Given the description of an element on the screen output the (x, y) to click on. 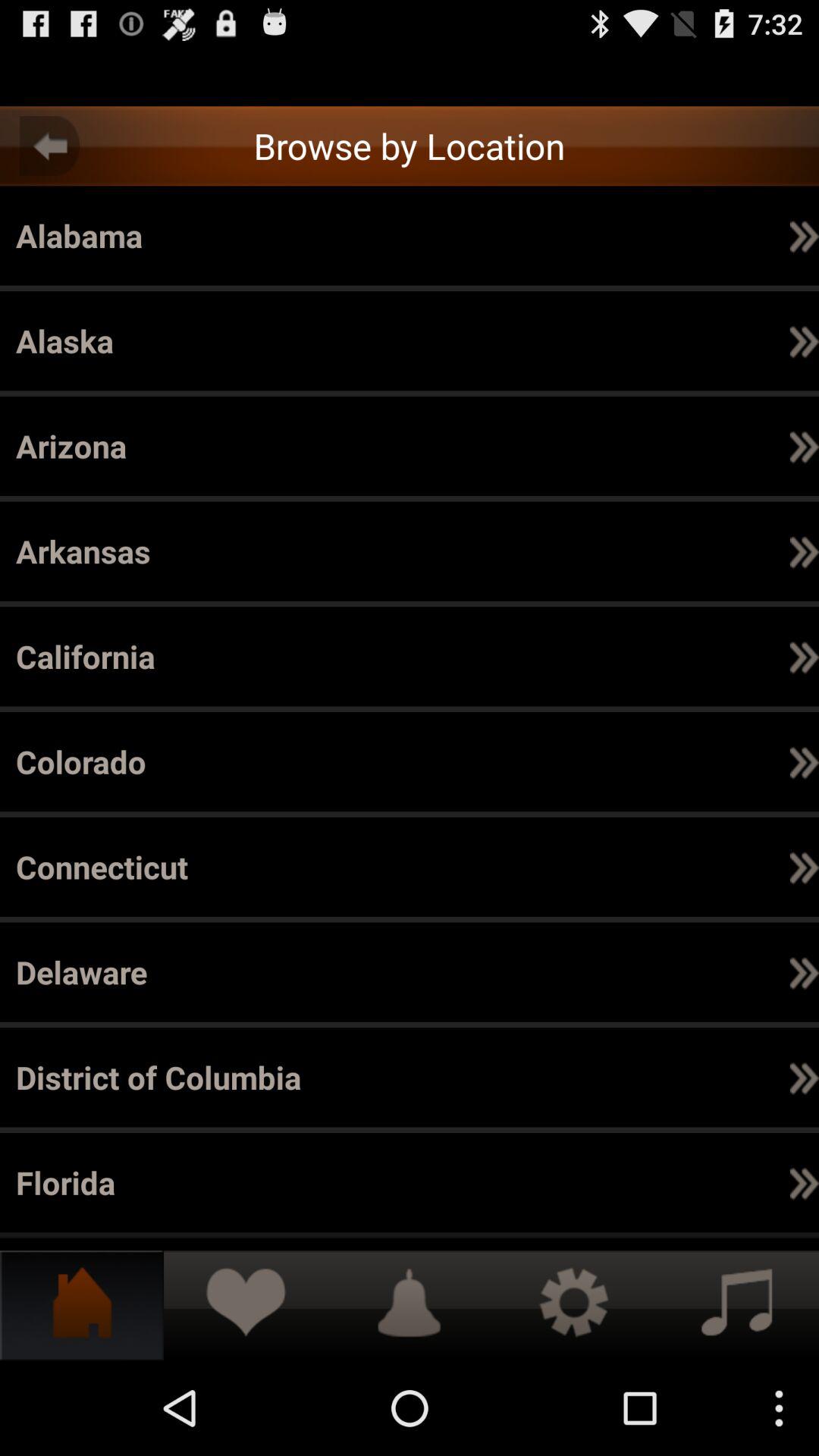
turn on the app next to the   alpine icon (804, 340)
